Given the description of an element on the screen output the (x, y) to click on. 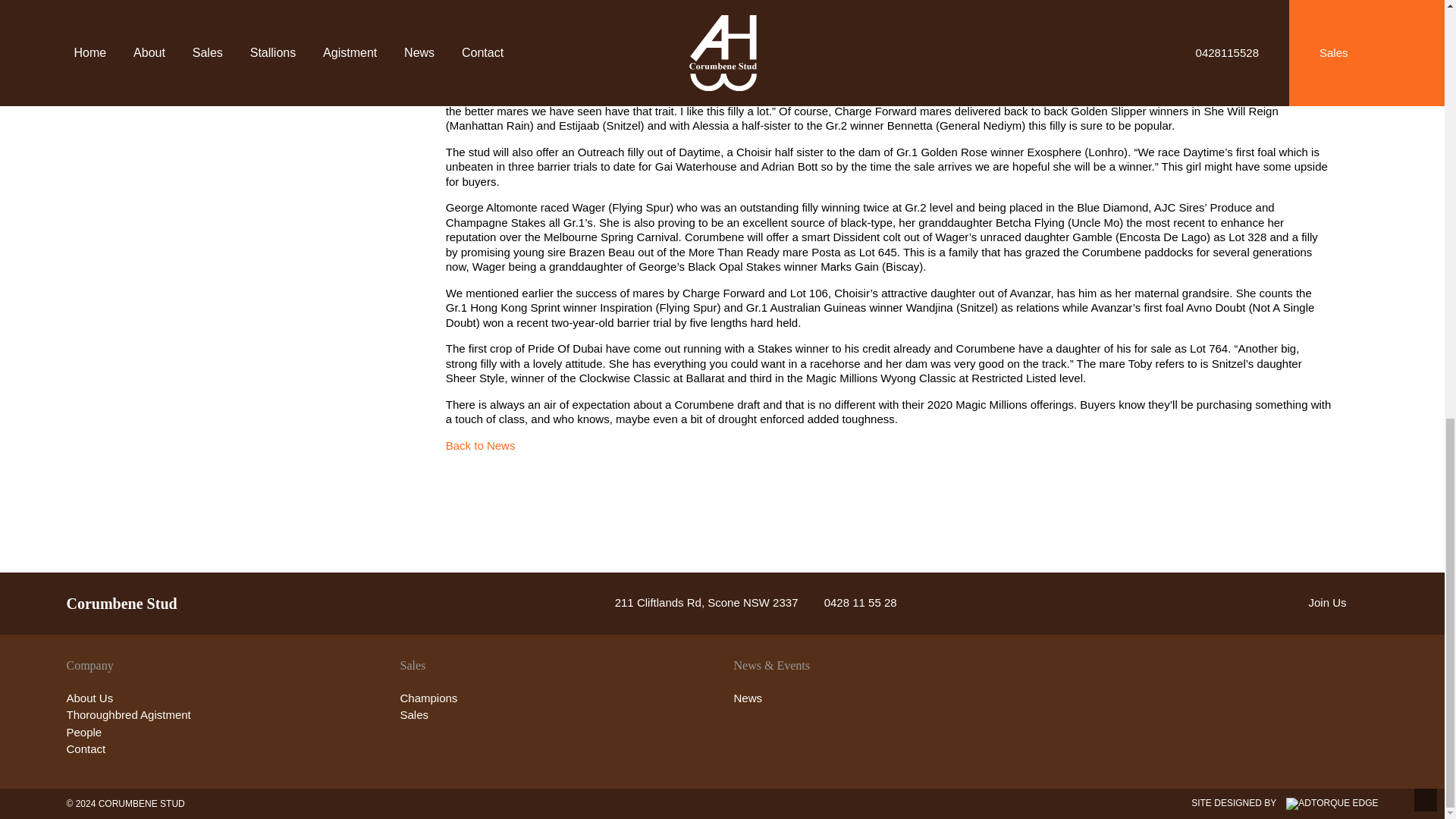
211 Cliftlands Rd, Scone NSW 2337 (695, 602)
About Us (89, 697)
0428 11 55 28 (849, 602)
Back to News (480, 445)
Thoroughbred Agistment (128, 714)
